Given the description of an element on the screen output the (x, y) to click on. 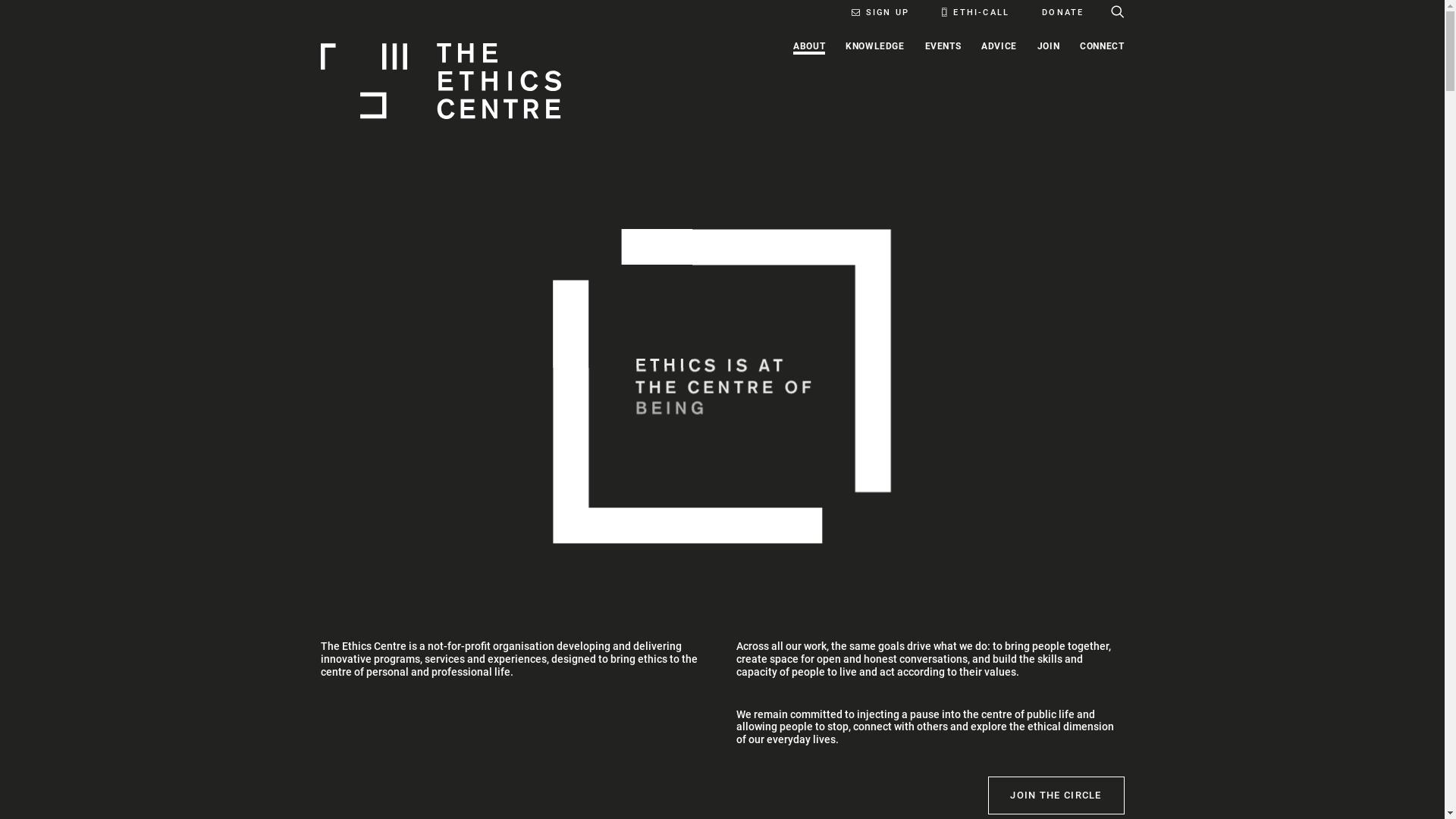
ABOUT Element type: text (808, 80)
EVENTS Element type: text (943, 80)
ADVICE Element type: text (998, 80)
KNOWLEDGE Element type: text (874, 80)
CONNECT Element type: text (1097, 80)
JOIN THE CIRCLE Element type: text (1055, 795)
JOIN Element type: text (1047, 80)
